Given the description of an element on the screen output the (x, y) to click on. 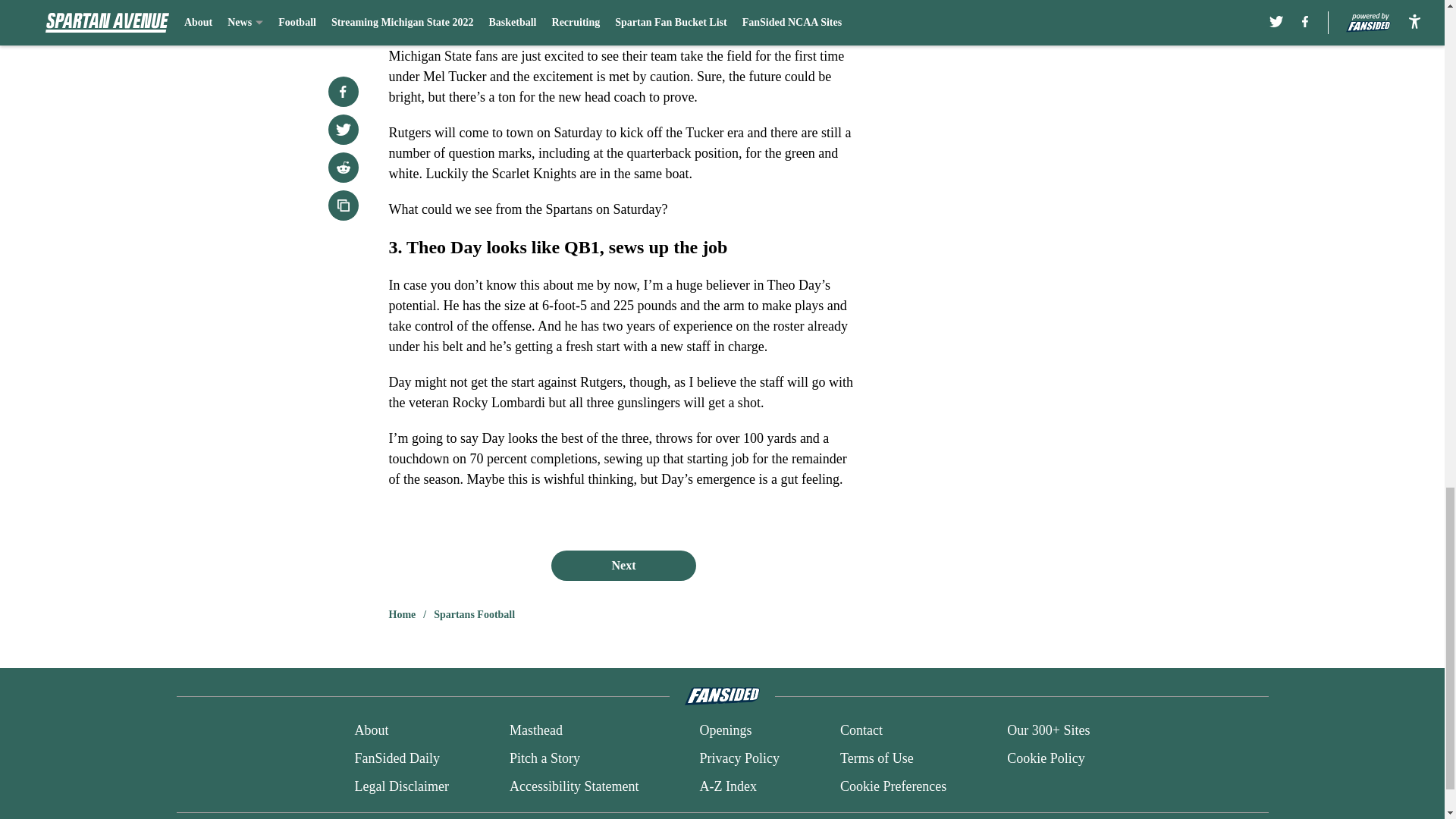
Next (622, 565)
Pitch a Story (544, 758)
Spartans Football (474, 614)
Openings (724, 730)
Masthead (535, 730)
Contact (861, 730)
Home (401, 614)
FanSided Daily (396, 758)
About (370, 730)
